Given the description of an element on the screen output the (x, y) to click on. 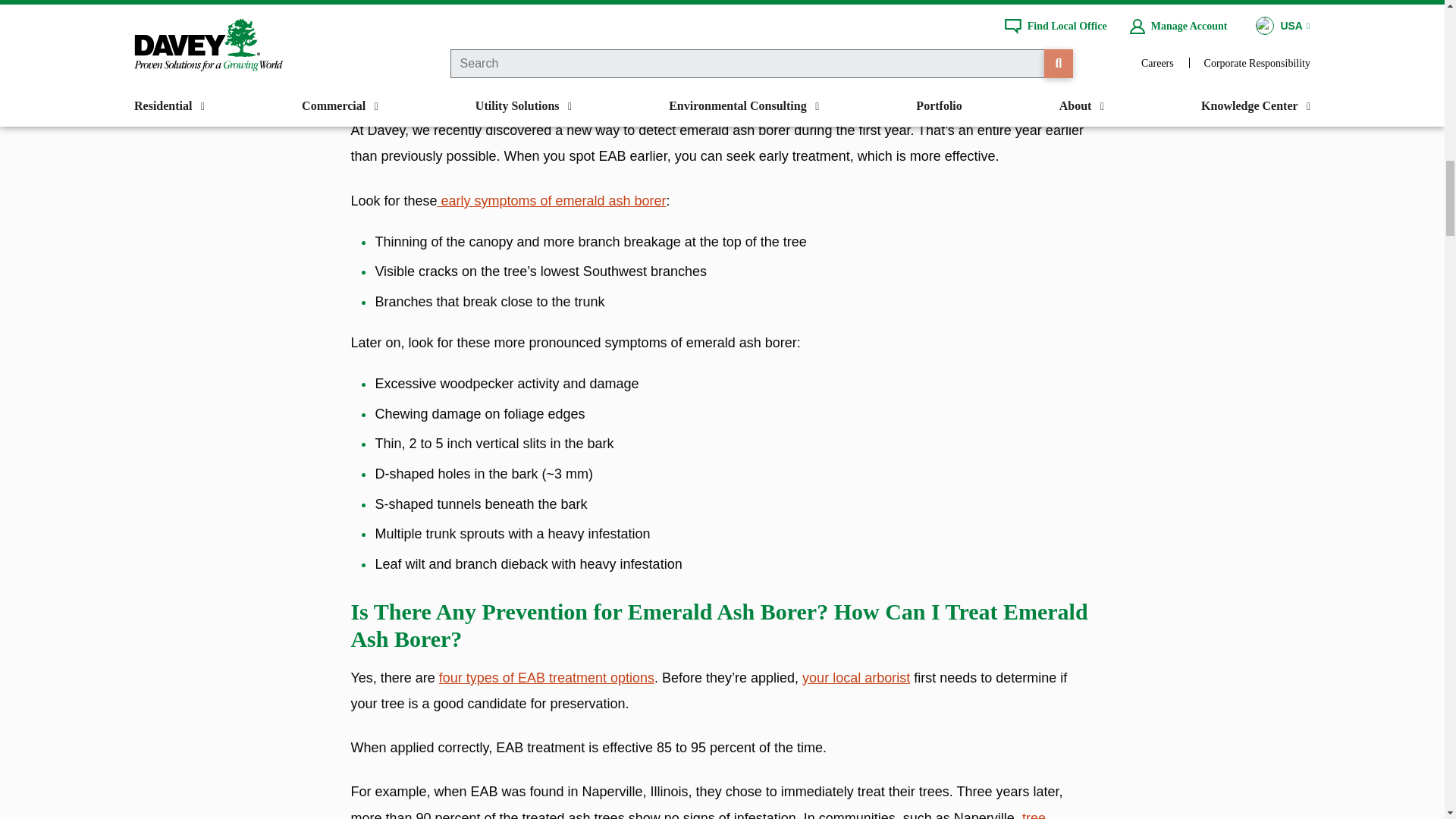
Protect Your Ash Trees: Spot the Early Signs of EAB (550, 200)
Tree Inventory Management (697, 814)
Does Emerald Ash Borer Treatment Work? (546, 677)
